Given the description of an element on the screen output the (x, y) to click on. 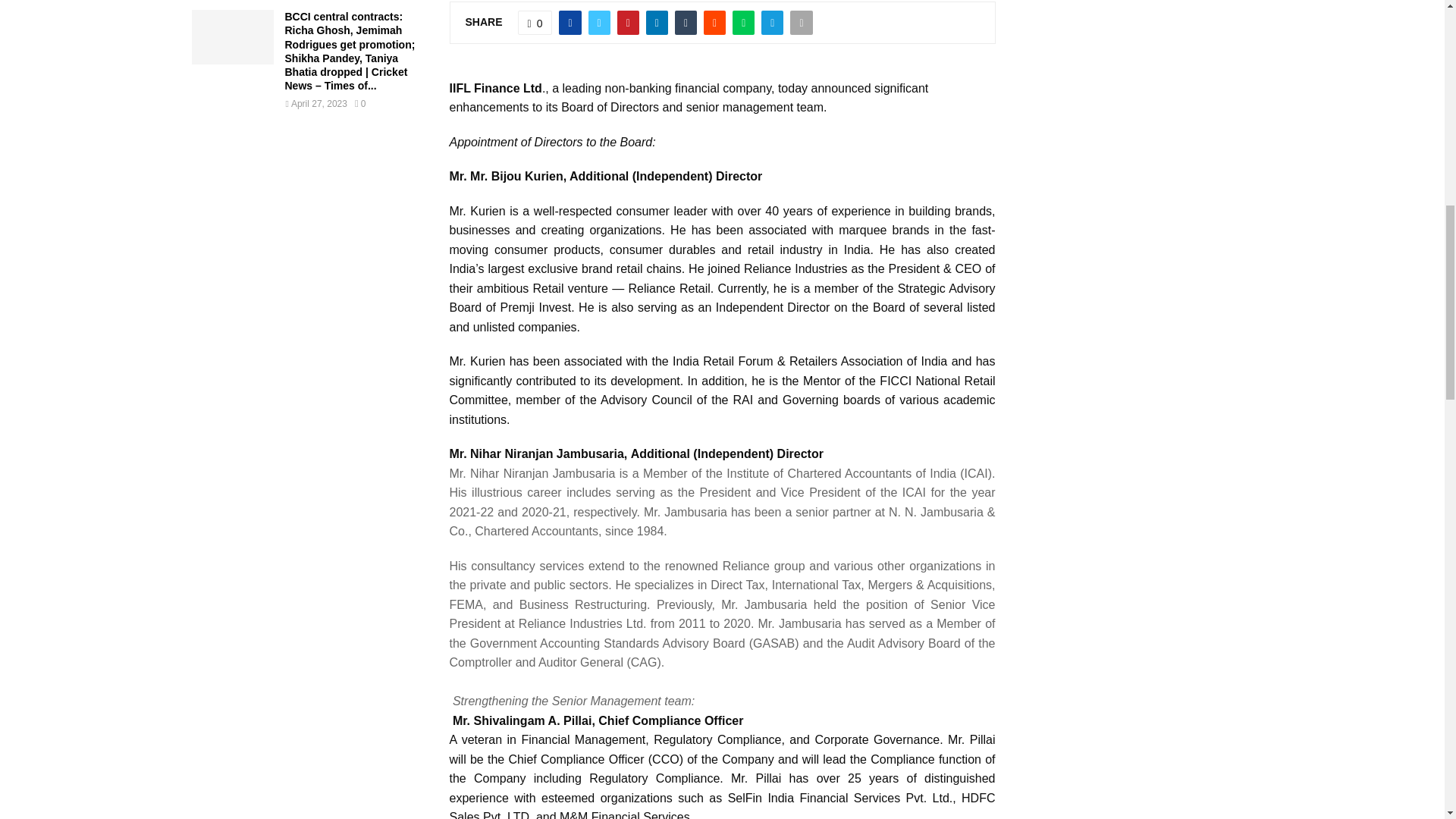
Like (535, 22)
